Given the description of an element on the screen output the (x, y) to click on. 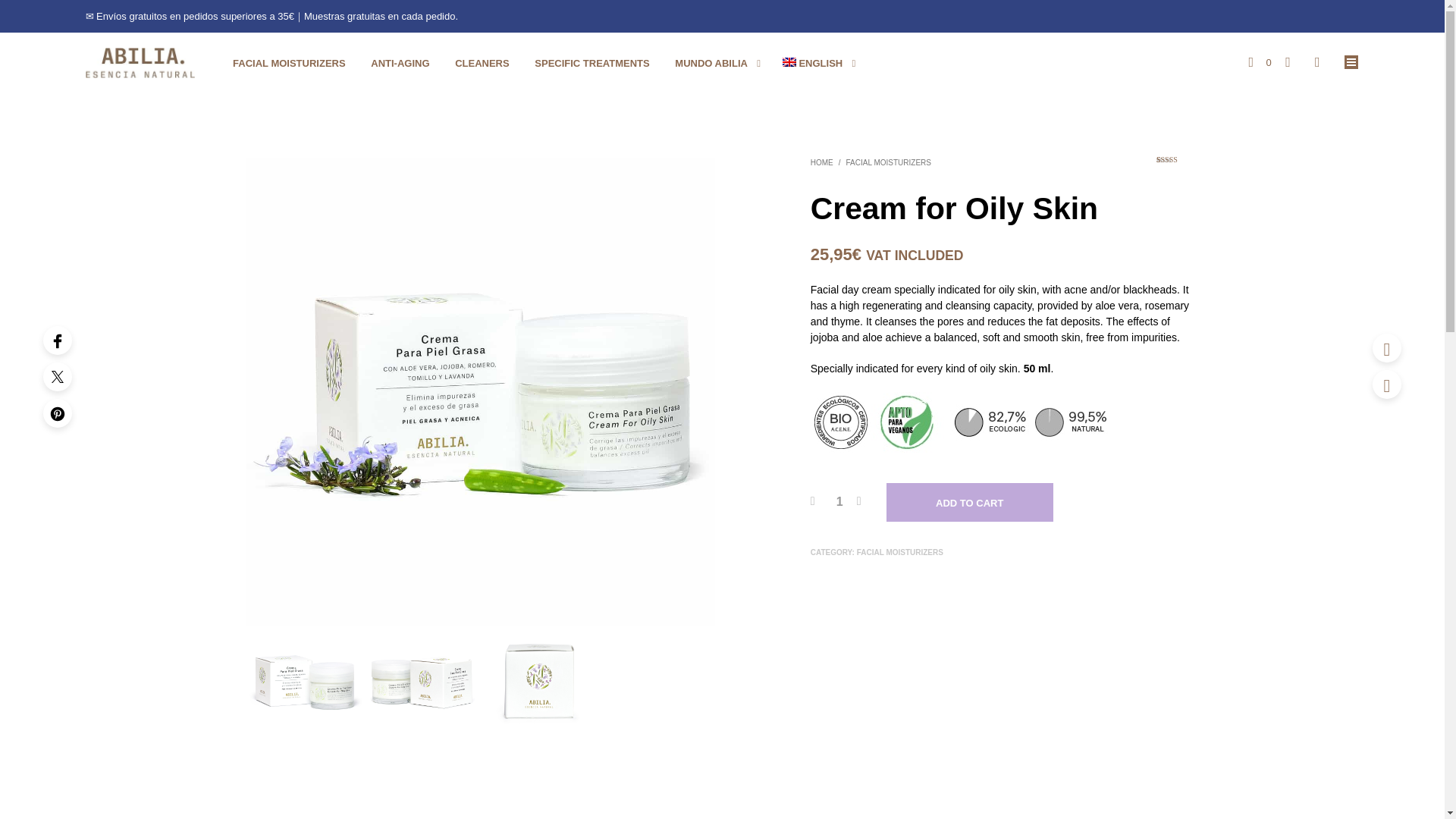
0 (1259, 62)
CLEANERS (482, 63)
SPECIFIC TREATMENTS (591, 63)
Crema-Hidratante-Piel-Grasa-ABILIA-BIO-02 (304, 683)
MUNDO ABILIA (710, 63)
Crema-Hidratante-Piel-Grasa-ABILIA-BIO-03 (421, 683)
ADD TO CART (969, 502)
ANTI-AGING (400, 63)
Crema-Hidratante-Piel-Grasa-ABILIA-BIO-04 (538, 683)
English (812, 63)
HOME (821, 162)
FACIAL MOISTURIZERS (288, 63)
FACIAL MOISTURIZERS (888, 162)
1 (839, 501)
